Given the description of an element on the screen output the (x, y) to click on. 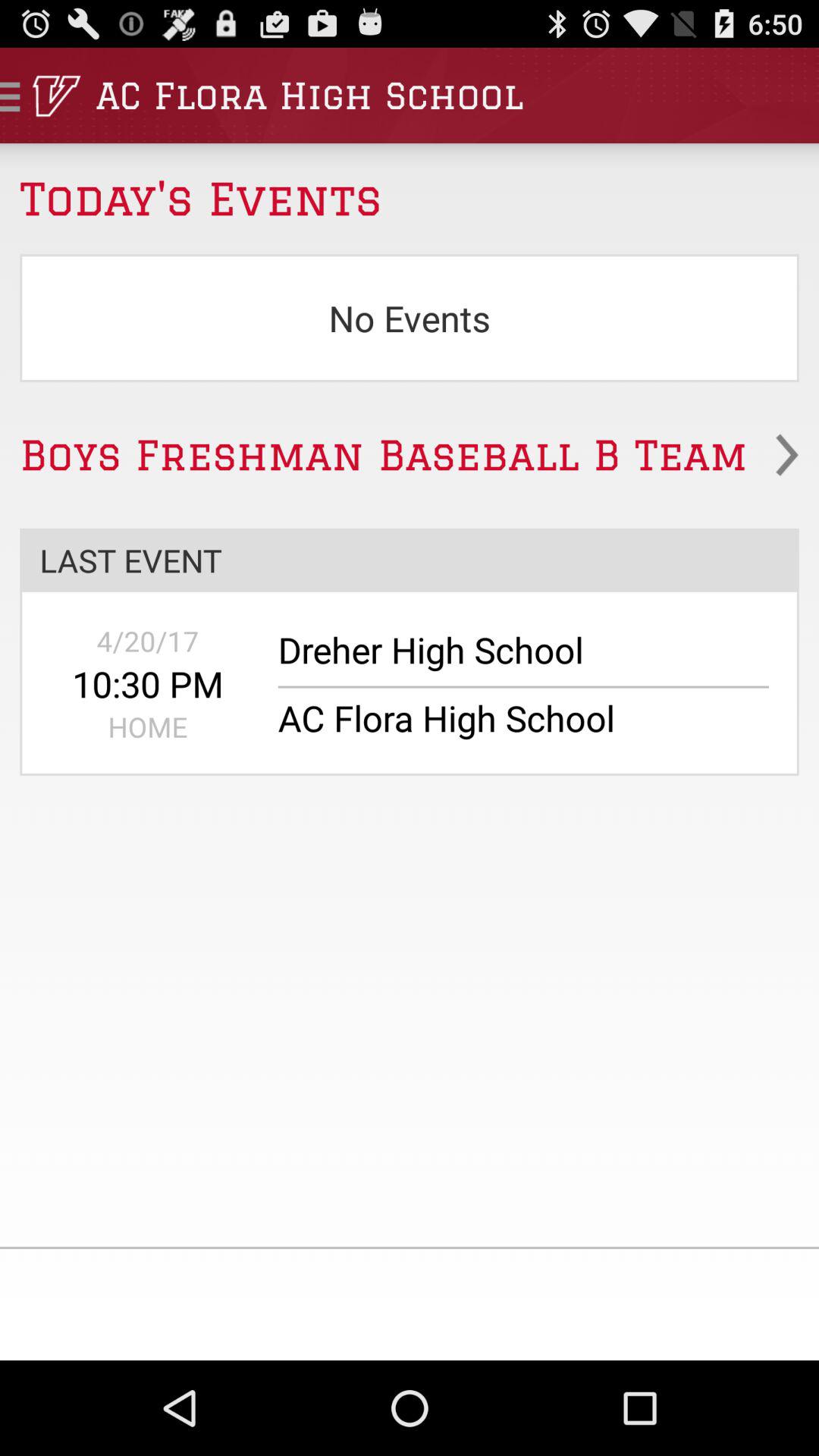
choose the icon above the 10:30 pm app (147, 640)
